Given the description of an element on the screen output the (x, y) to click on. 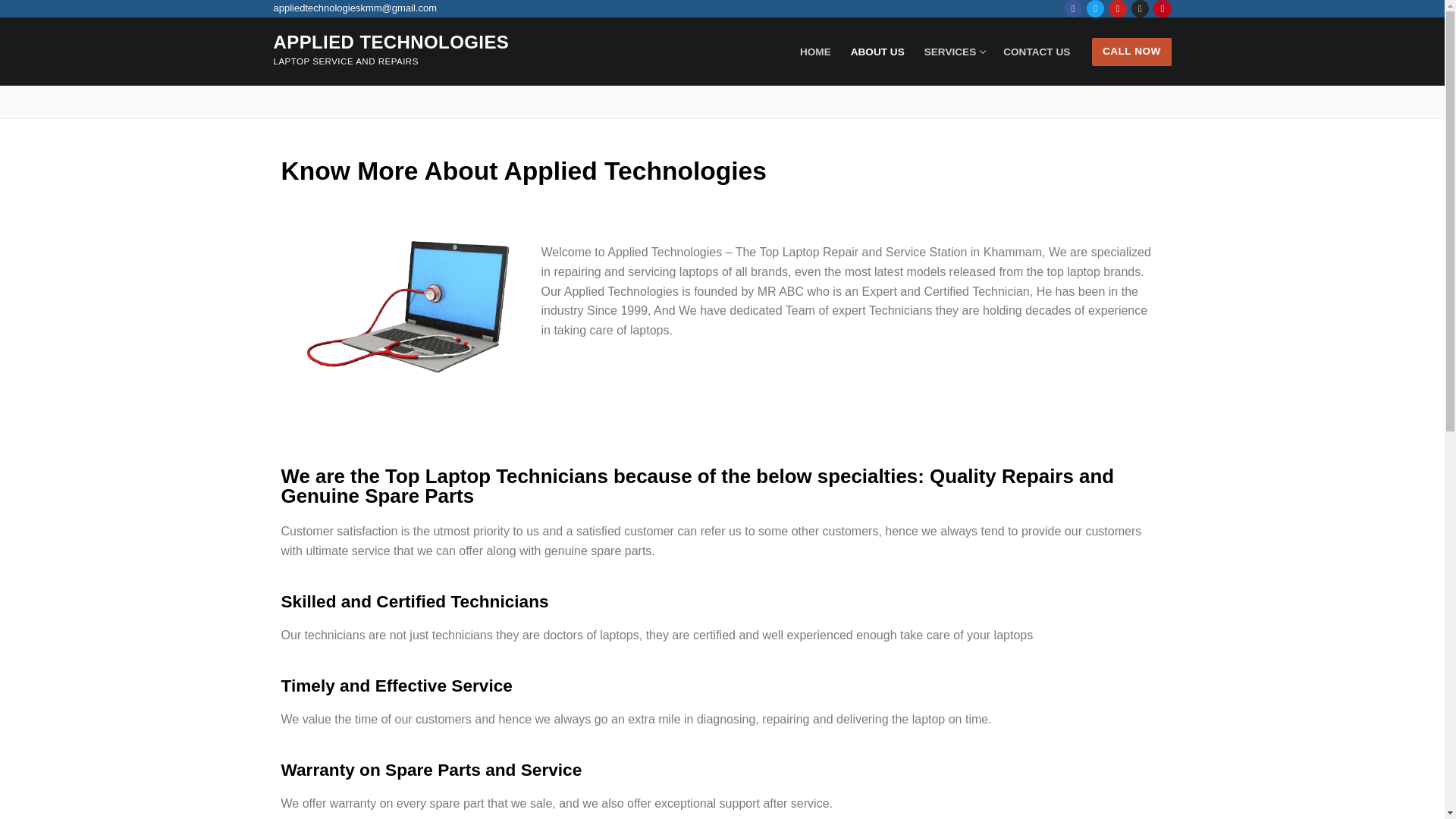
Pinterest (1162, 8)
Youtube (1117, 8)
CONTACT US (1036, 51)
APPLIED TECHNOLOGIES (390, 42)
Facebook (1073, 8)
CALL NOW (1131, 51)
ABOUT US (877, 51)
Twitter (954, 51)
Instagram (1095, 8)
HOME (1139, 8)
